Given the description of an element on the screen output the (x, y) to click on. 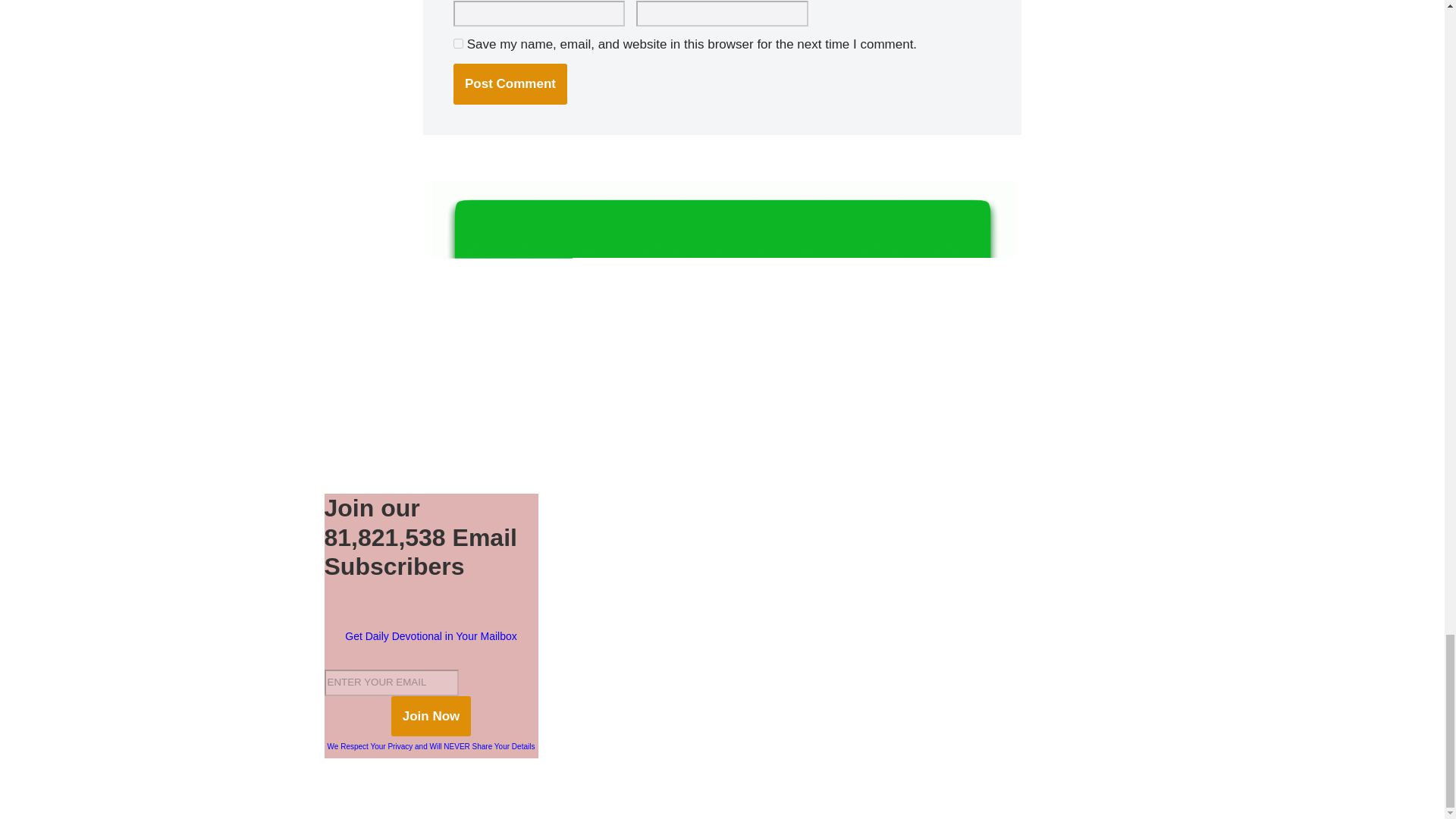
Post Comment (509, 83)
Post Comment (509, 83)
Join Now (431, 716)
yes (457, 43)
